Given the description of an element on the screen output the (x, y) to click on. 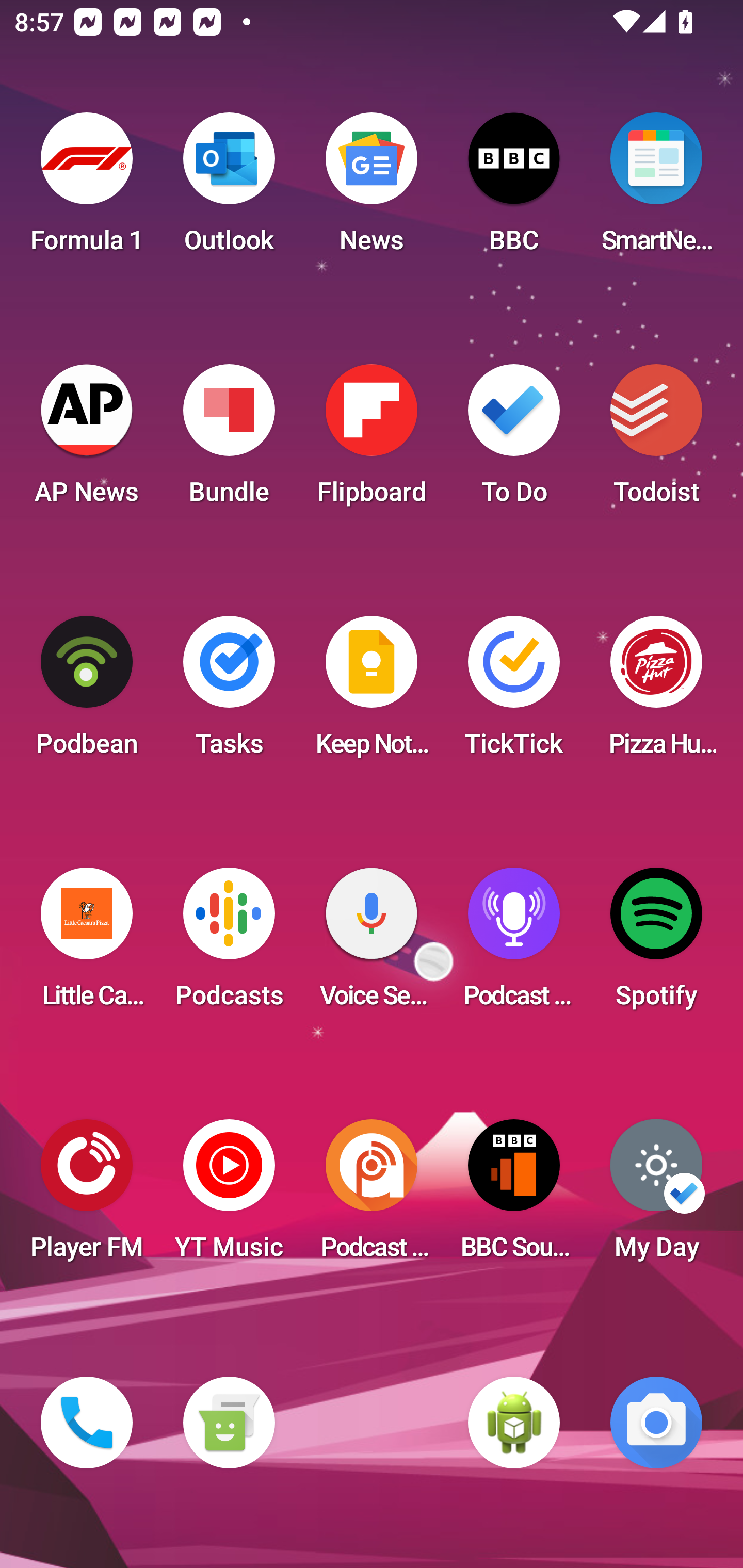
Formula 1 (86, 188)
Outlook (228, 188)
News (371, 188)
BBC (513, 188)
SmartNews (656, 188)
AP News (86, 440)
Bundle (228, 440)
Flipboard (371, 440)
To Do (513, 440)
Todoist (656, 440)
Podbean (86, 692)
Tasks (228, 692)
Keep Notes (371, 692)
TickTick (513, 692)
Pizza Hut HK & Macau (656, 692)
Little Caesars Pizza (86, 943)
Podcasts (228, 943)
Voice Search (371, 943)
Podcast Player (513, 943)
Spotify (656, 943)
Player FM (86, 1195)
YT Music (228, 1195)
Podcast Addict (371, 1195)
BBC Sounds (513, 1195)
My Day (656, 1195)
Phone (86, 1422)
Messaging (228, 1422)
WebView Browser Tester (513, 1422)
Camera (656, 1422)
